Given the description of an element on the screen output the (x, y) to click on. 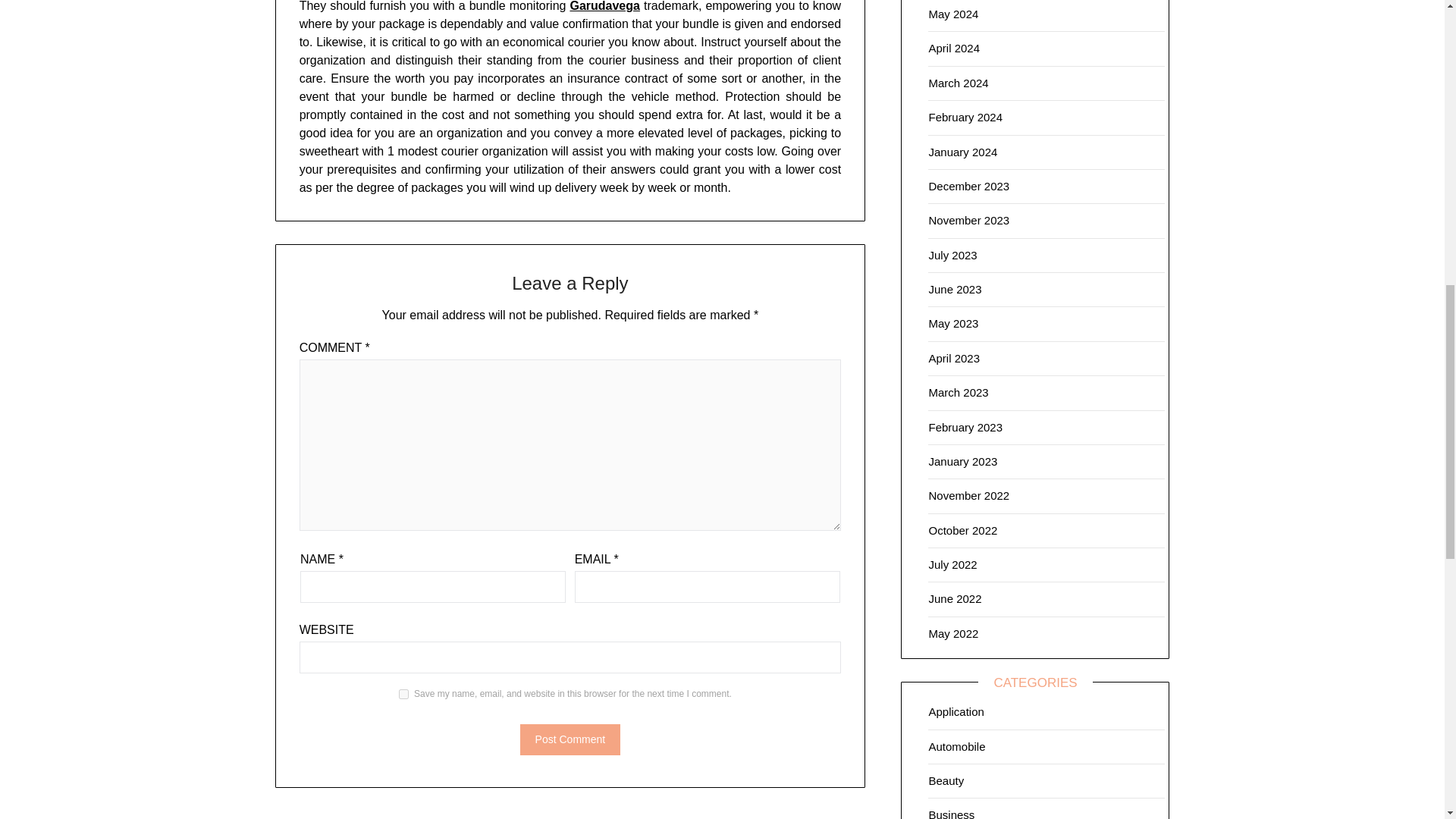
April 2024 (953, 47)
Post Comment (570, 739)
November 2023 (968, 219)
March 2024 (958, 82)
May 2024 (953, 13)
December 2023 (968, 185)
Garudavega (604, 6)
yes (403, 694)
January 2023 (962, 461)
February 2023 (965, 427)
April 2023 (953, 358)
June 2023 (954, 288)
March 2023 (958, 391)
July 2023 (952, 254)
Post Comment (570, 739)
